Given the description of an element on the screen output the (x, y) to click on. 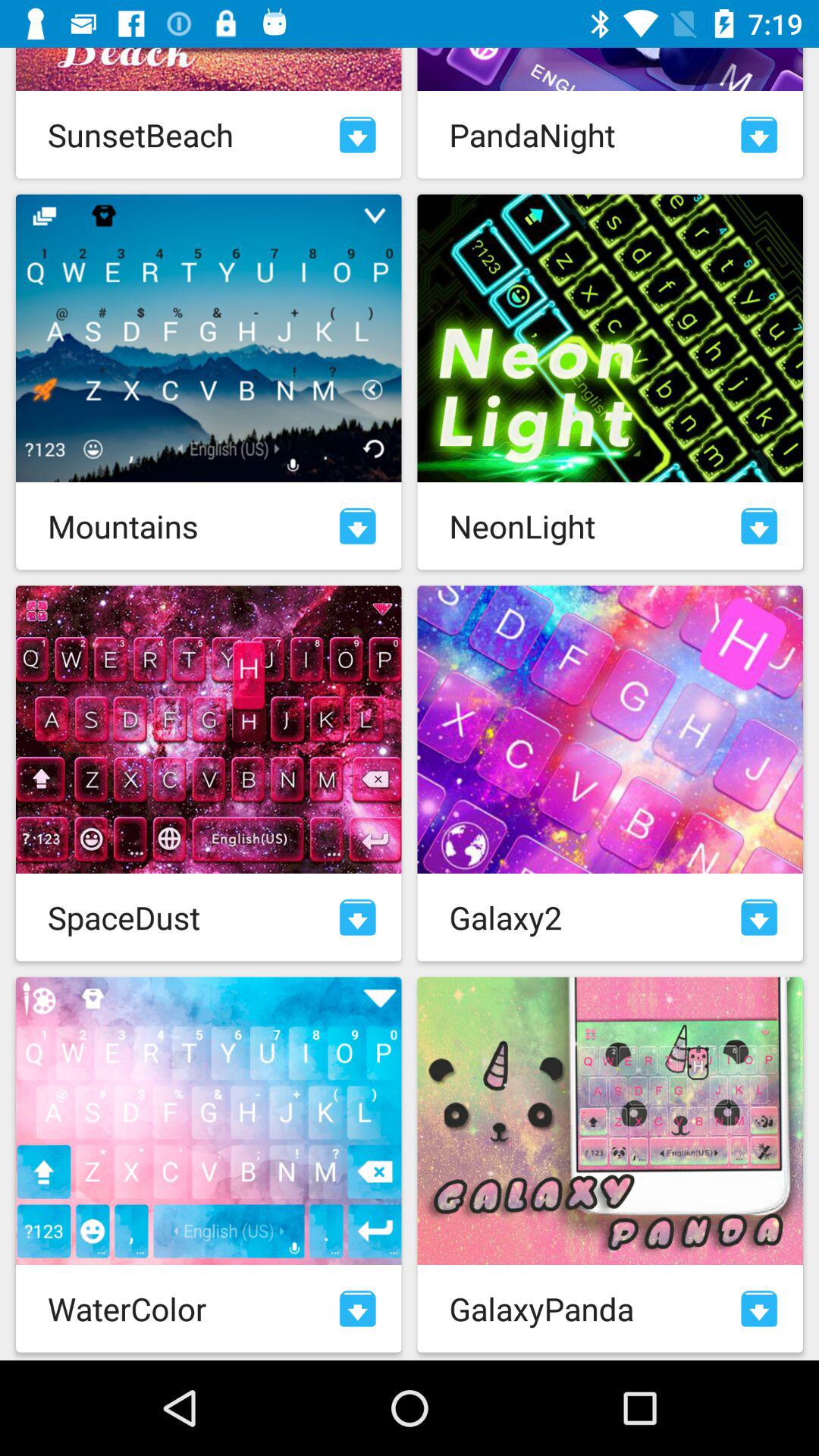
galaxy2 (759, 917)
